Given the description of an element on the screen output the (x, y) to click on. 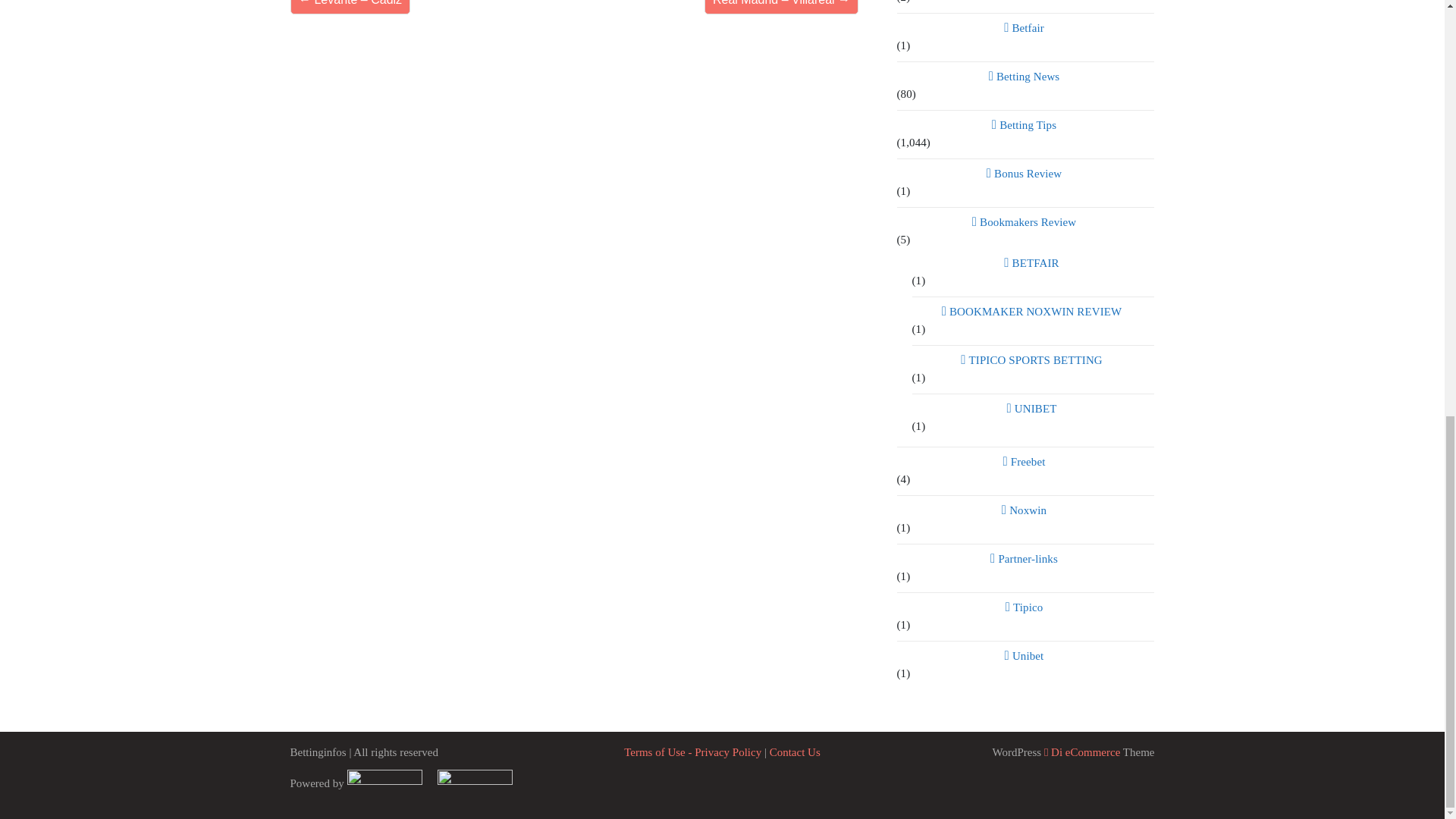
UNIBET (1032, 408)
Bookmakers Review (1025, 221)
Betting Tips (1025, 125)
Betting News (1025, 76)
Betfair (1025, 27)
BETFAIR (1032, 262)
Bonus Review (1025, 173)
BOOKMAKER NOXWIN REVIEW (1032, 311)
TIPICO SPORTS BETTING (1032, 360)
